Given the description of an element on the screen output the (x, y) to click on. 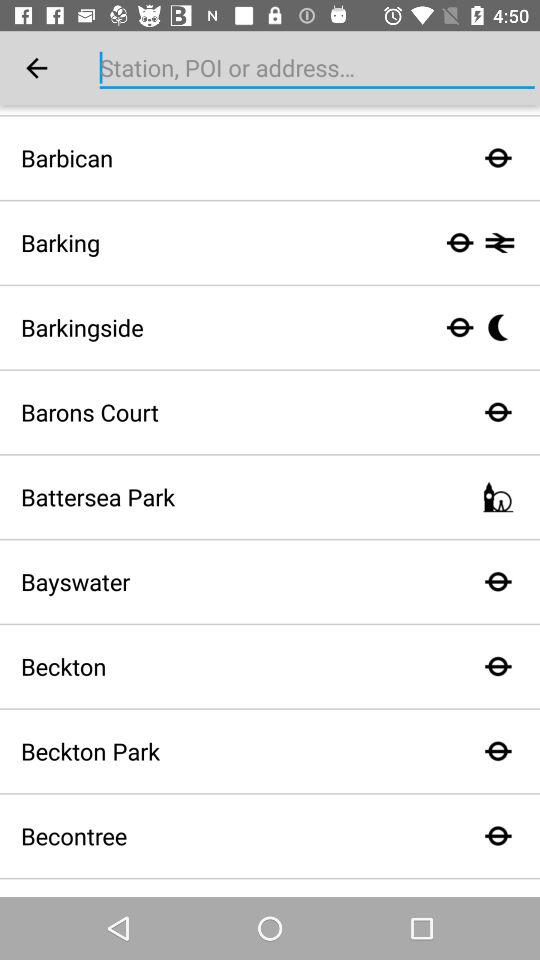
enter address destination in box (317, 67)
